Given the description of an element on the screen output the (x, y) to click on. 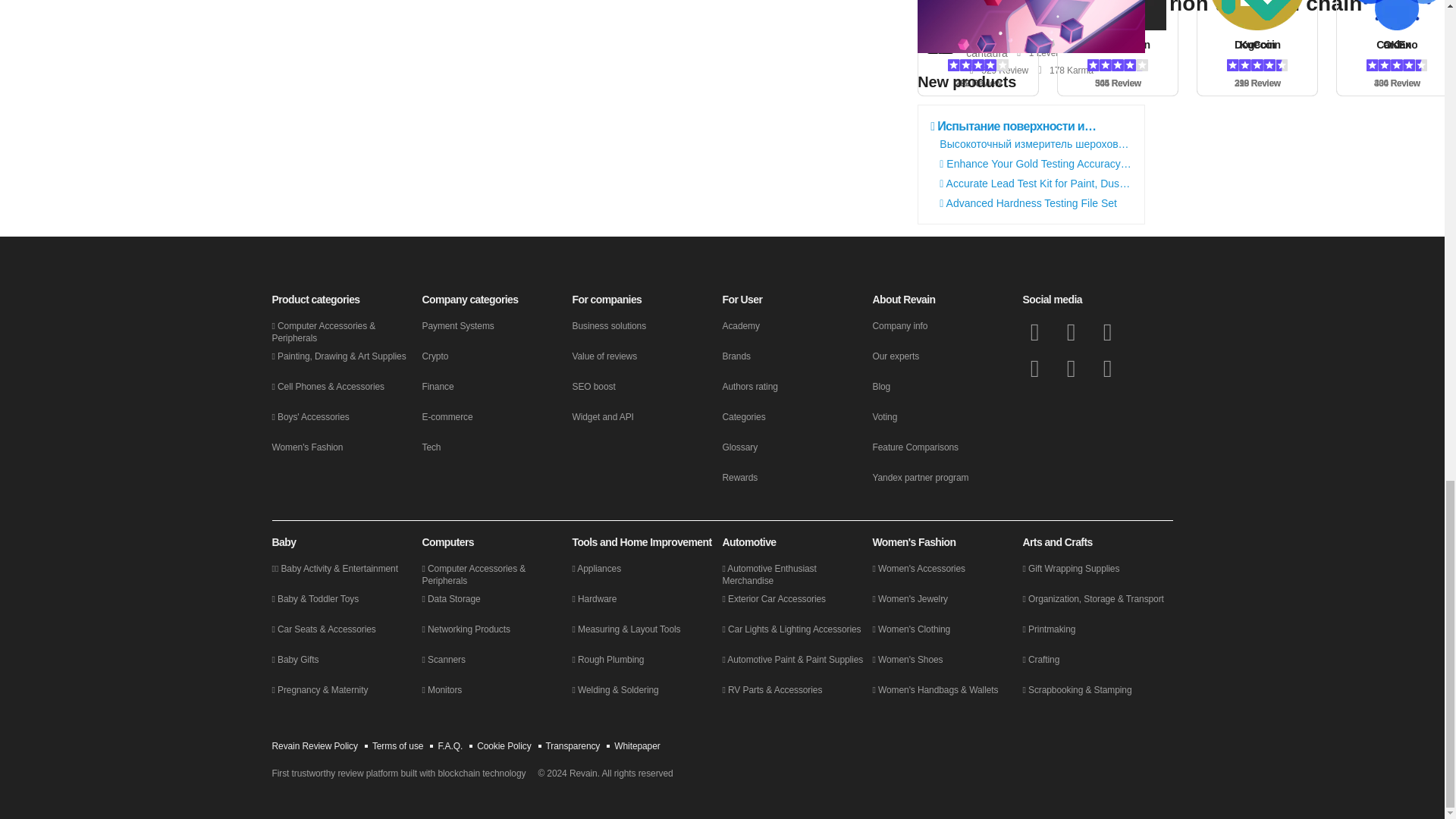
Revain Twitter (1070, 331)
Revain Pinterest (1106, 368)
Revain Instagram (1070, 368)
Revain Facebook (1034, 331)
Revain Telegram channel (1034, 368)
Revain Telegram group (1106, 331)
